Given the description of an element on the screen output the (x, y) to click on. 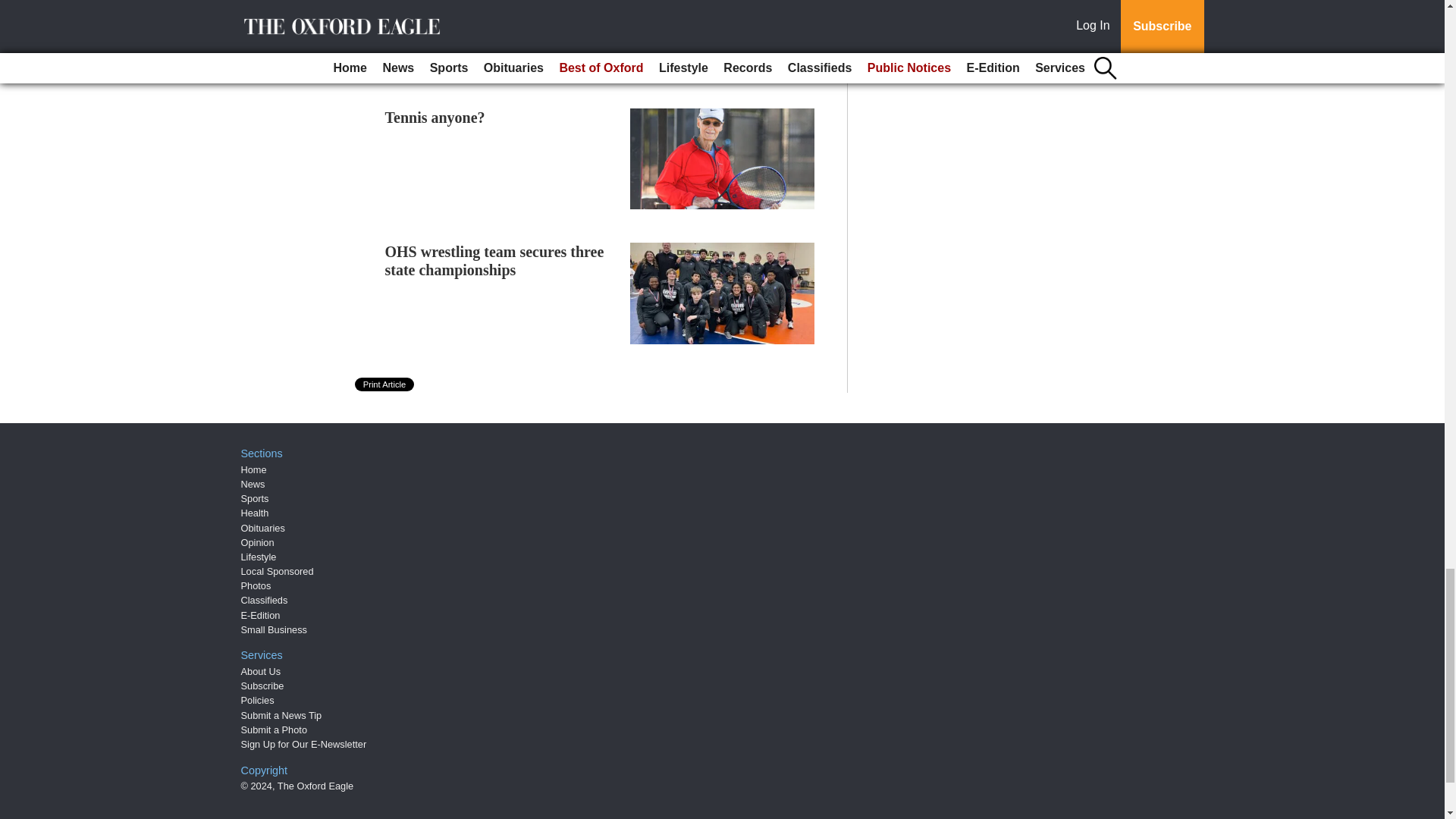
OHS wrestling team secures three state championships (494, 260)
OHS wrestling team secures three state championships (494, 260)
Print Article (384, 384)
Tennis anyone? (434, 117)
Tennis anyone? (434, 117)
